Given the description of an element on the screen output the (x, y) to click on. 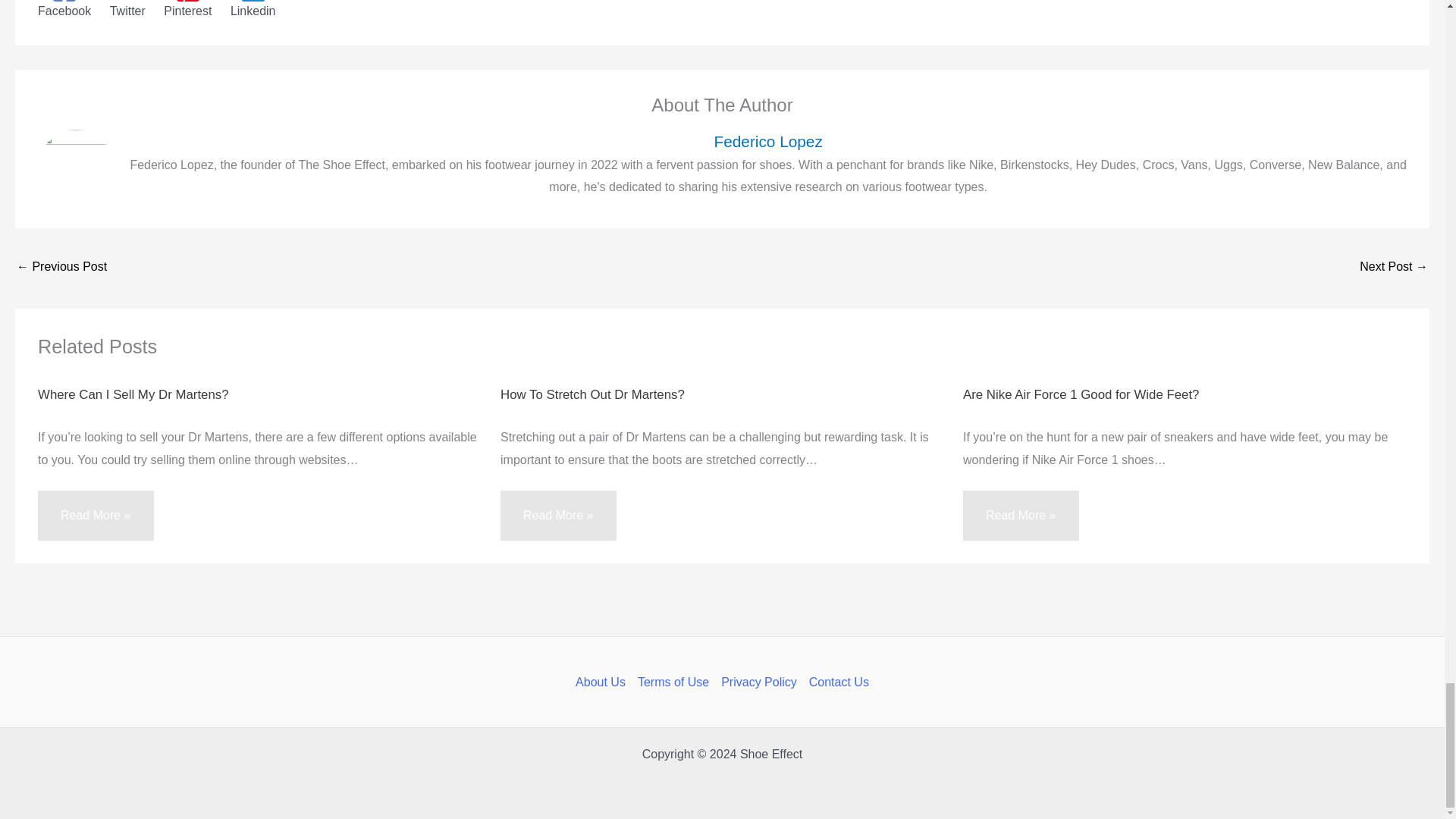
Linkedin (253, 9)
Where Can I Sell My Dr Martens? (132, 394)
Affordable Elegance: Finding Deals On Balmain Sandals (61, 267)
Contact Us (836, 681)
Are Nike Air Force 1 Good for Wide Feet? (1080, 394)
Federico Lopez (767, 141)
Casual Urban Charm: Magnanni Mens Casual Boots (1393, 267)
How To Stretch Out Dr Martens? (592, 394)
Twitter (127, 9)
Pinterest (187, 9)
